Given the description of an element on the screen output the (x, y) to click on. 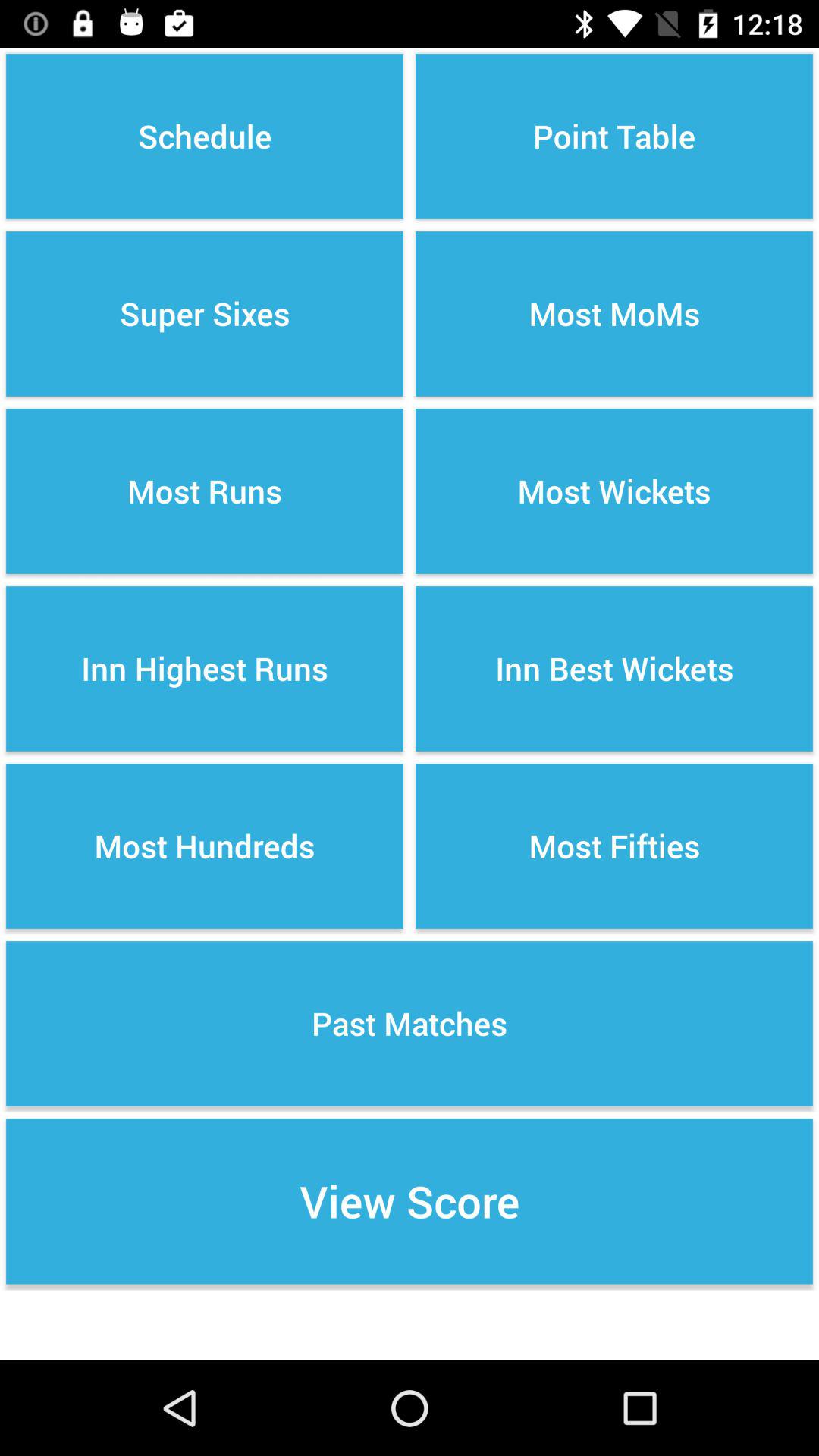
turn off icon below super sixes item (204, 490)
